Given the description of an element on the screen output the (x, y) to click on. 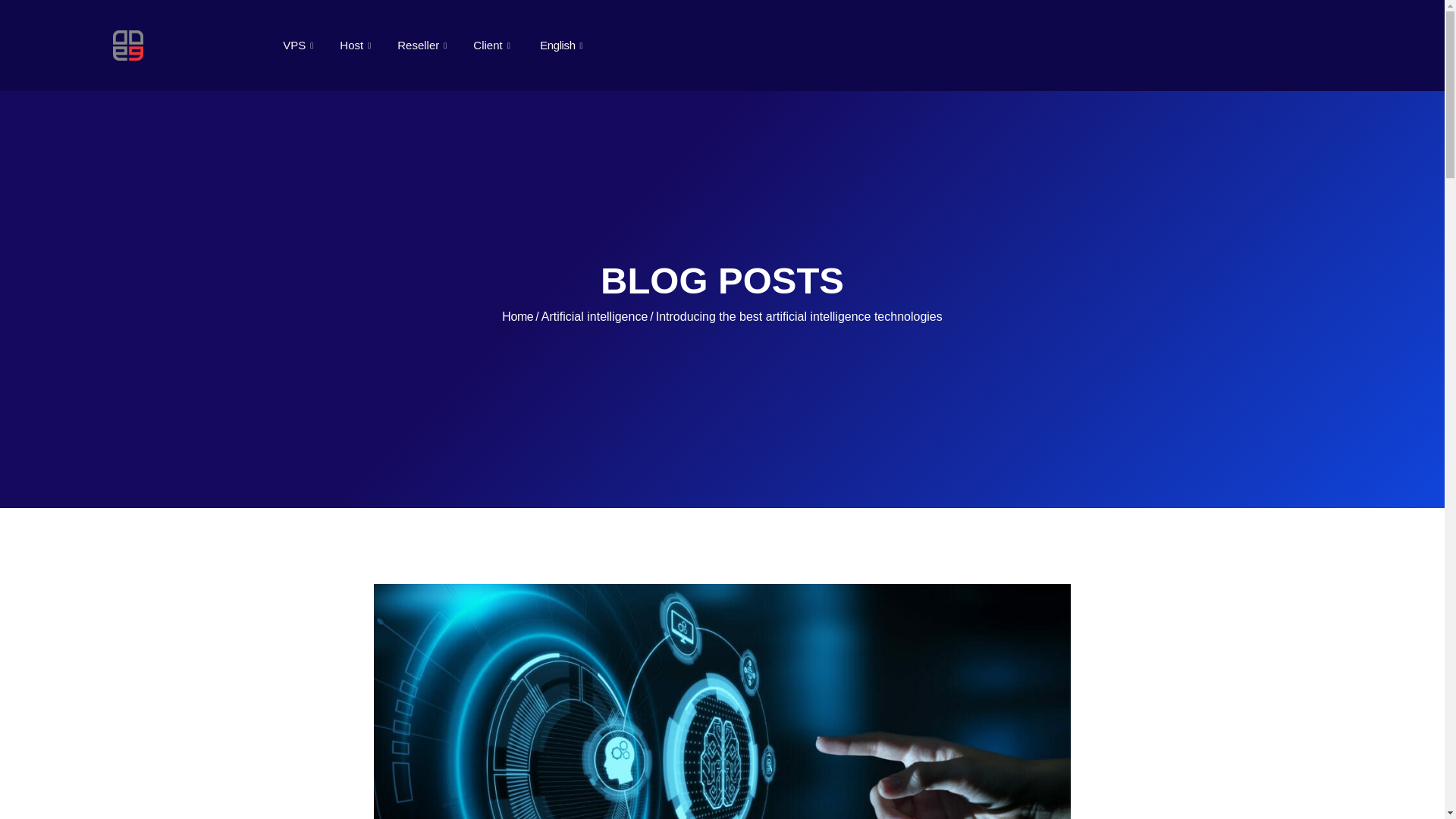
Host (357, 45)
VPS (299, 45)
Reseller (423, 45)
English (561, 45)
